Given the description of an element on the screen output the (x, y) to click on. 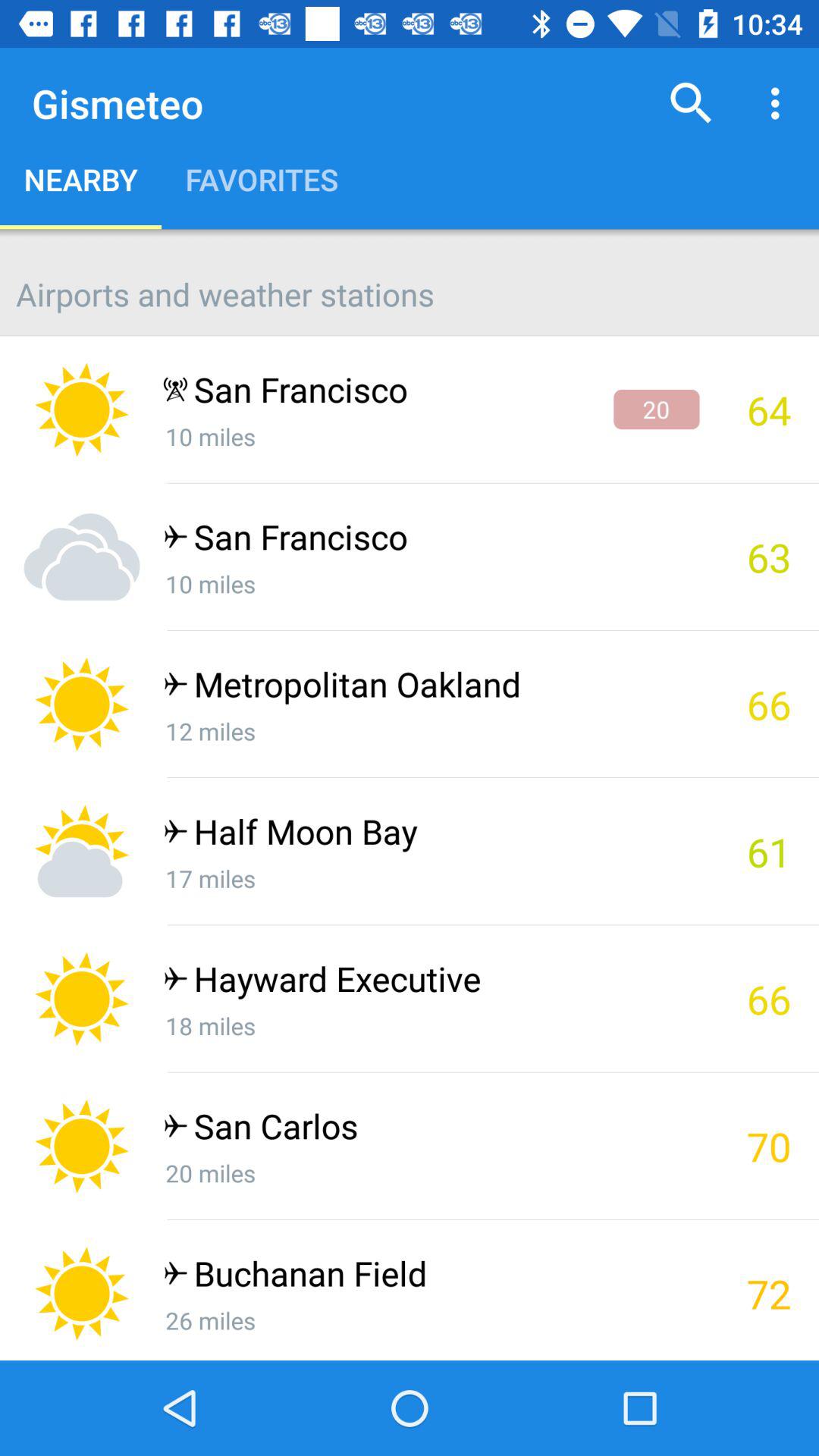
swipe to the 20 miles app (431, 1172)
